Given the description of an element on the screen output the (x, y) to click on. 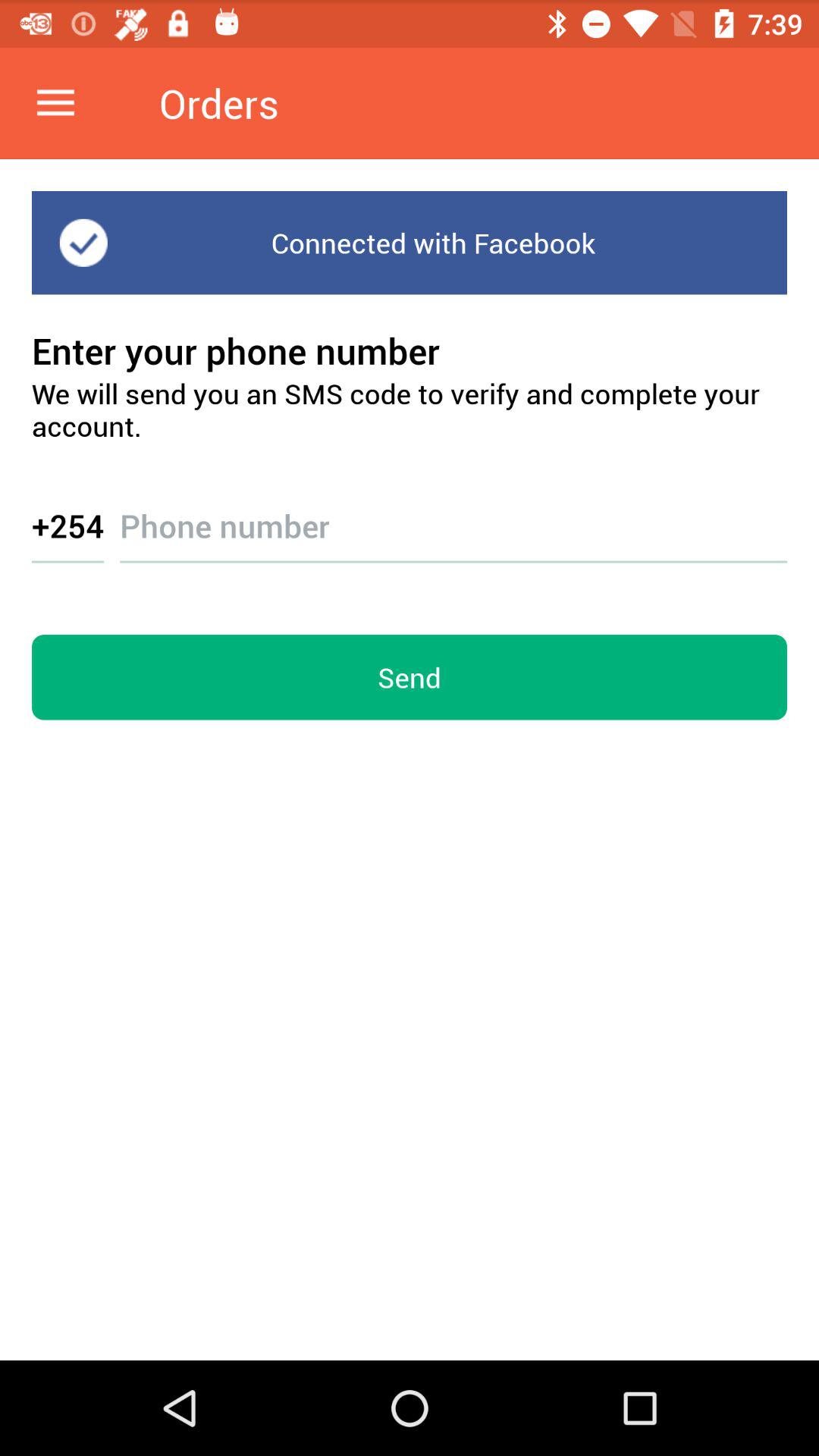
open the icon above the connected with facebook (55, 103)
